Given the description of an element on the screen output the (x, y) to click on. 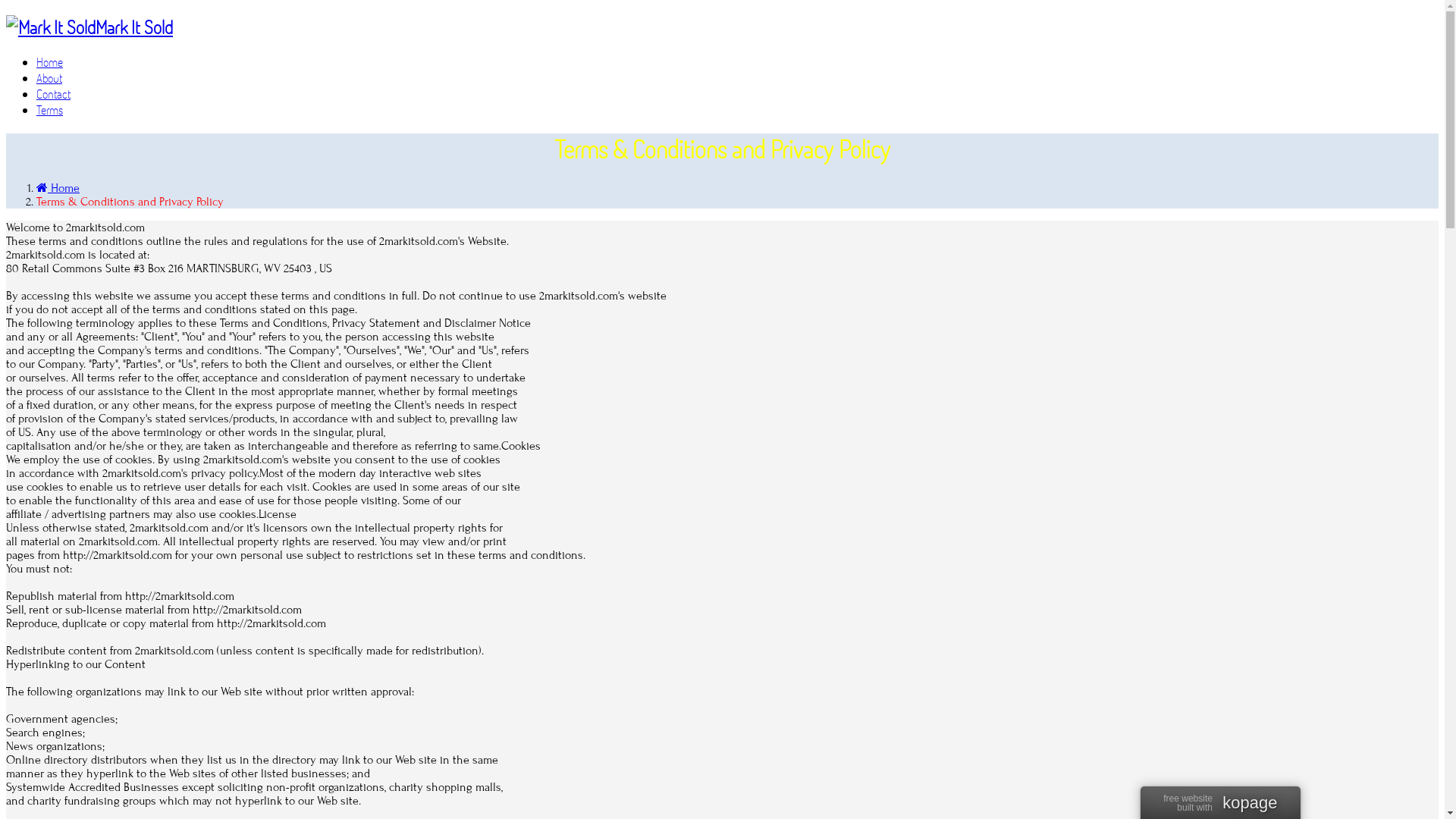
Terms Element type: text (49, 109)
Home Element type: text (57, 187)
Mark It Sold Element type: text (722, 26)
Contact Element type: text (53, 93)
Home Element type: text (49, 61)
About Element type: text (49, 77)
kopage Element type: text (1249, 802)
